Given the description of an element on the screen output the (x, y) to click on. 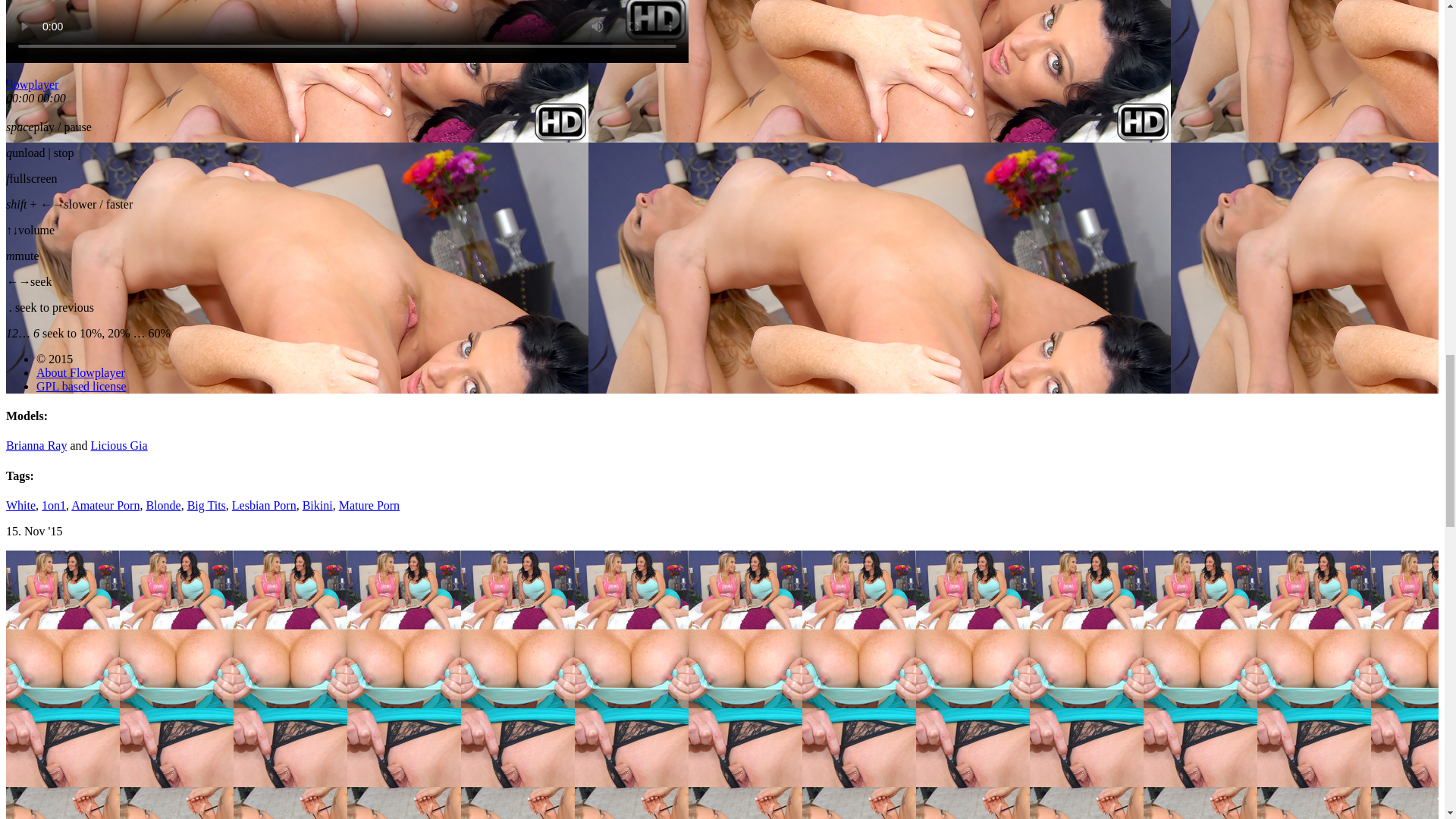
White (19, 504)
Big Tits (206, 504)
1on1 (53, 504)
About Flowplayer (80, 372)
flowplayer (31, 83)
Licious Gia (119, 445)
Amateur Porn (105, 504)
Bikini (317, 504)
Blonde (162, 504)
GPL based license (80, 386)
Brianna Ray (35, 445)
Mature Porn (368, 504)
Lesbian Porn (264, 504)
